Given the description of an element on the screen output the (x, y) to click on. 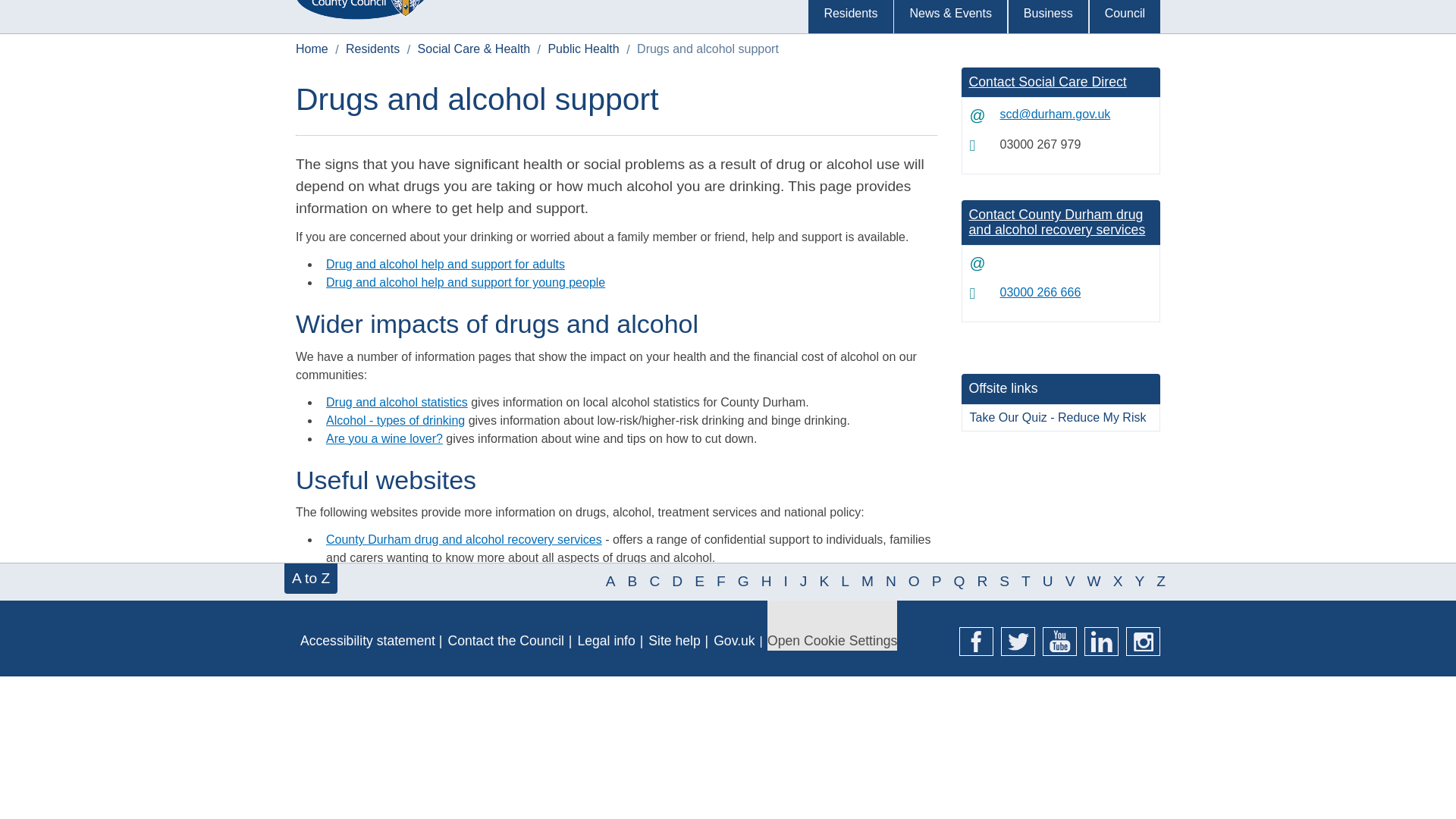
County Durham drug and alcohol recovery services (464, 539)
Home (312, 48)
Talk to Frank: Drugs A-Z (391, 648)
Letter E (699, 581)
Residents (850, 17)
NHS: Alcohol support (383, 666)
Business (1048, 17)
Residents (372, 48)
Letter F (721, 581)
Link to home page (361, 8)
Drink Coach - (359, 575)
Take Our Quiz - Reduce My Risk (1059, 417)
Public Health (582, 48)
NHS Drug addiction: getting help (414, 612)
Council (1124, 17)
